Given the description of an element on the screen output the (x, y) to click on. 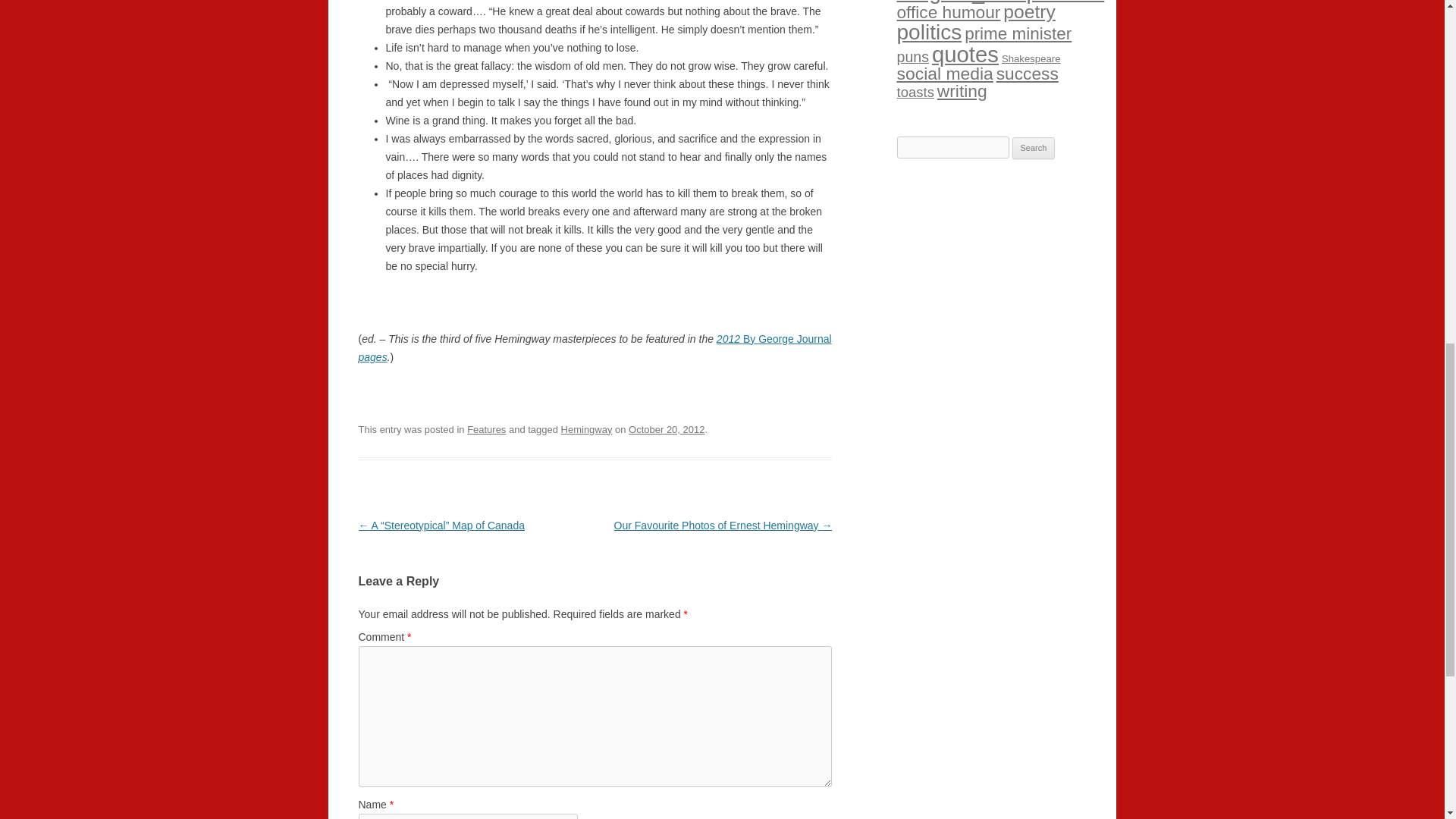
Search (1033, 148)
2012 (729, 338)
11:33 (666, 429)
By George Journal (786, 338)
pages (372, 357)
Hemingway (586, 429)
Features (486, 429)
October 20, 2012 (666, 429)
